Given the description of an element on the screen output the (x, y) to click on. 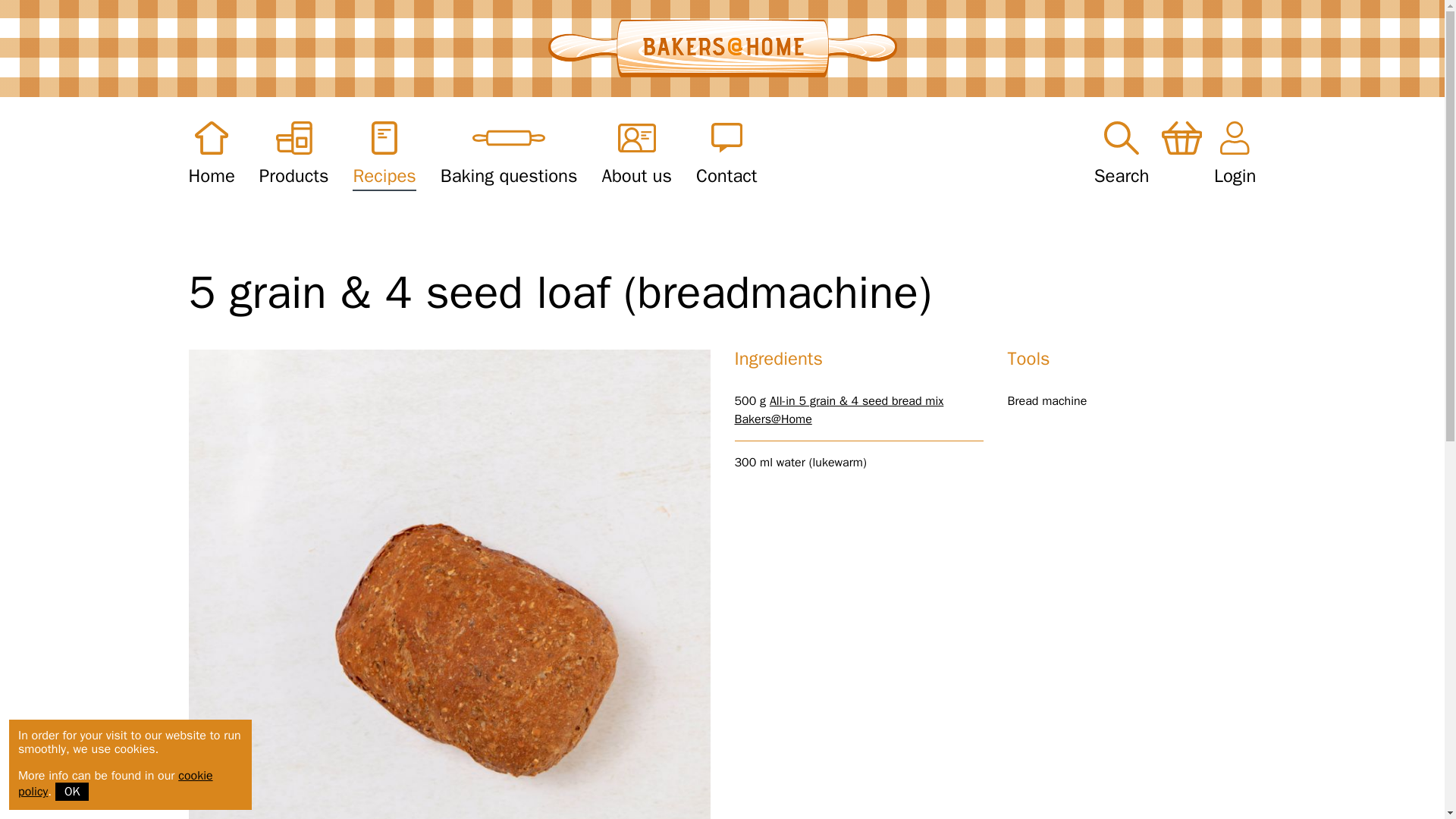
Baking questions (509, 155)
OK (71, 791)
Recipes (383, 155)
About us (637, 155)
Products (294, 155)
cookie policy (114, 783)
